Given the description of an element on the screen output the (x, y) to click on. 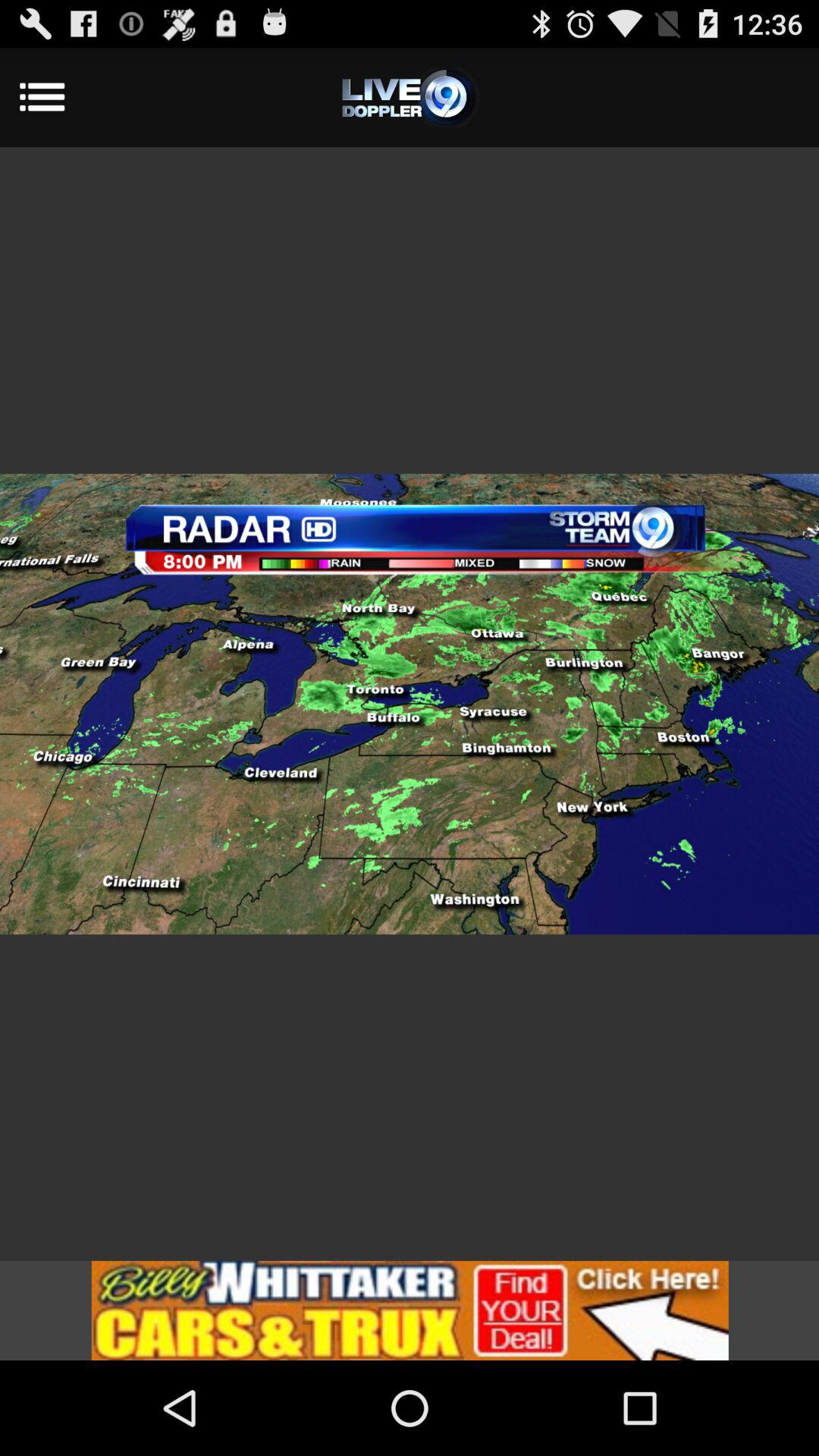
launch the item at the bottom (409, 1310)
